Given the description of an element on the screen output the (x, y) to click on. 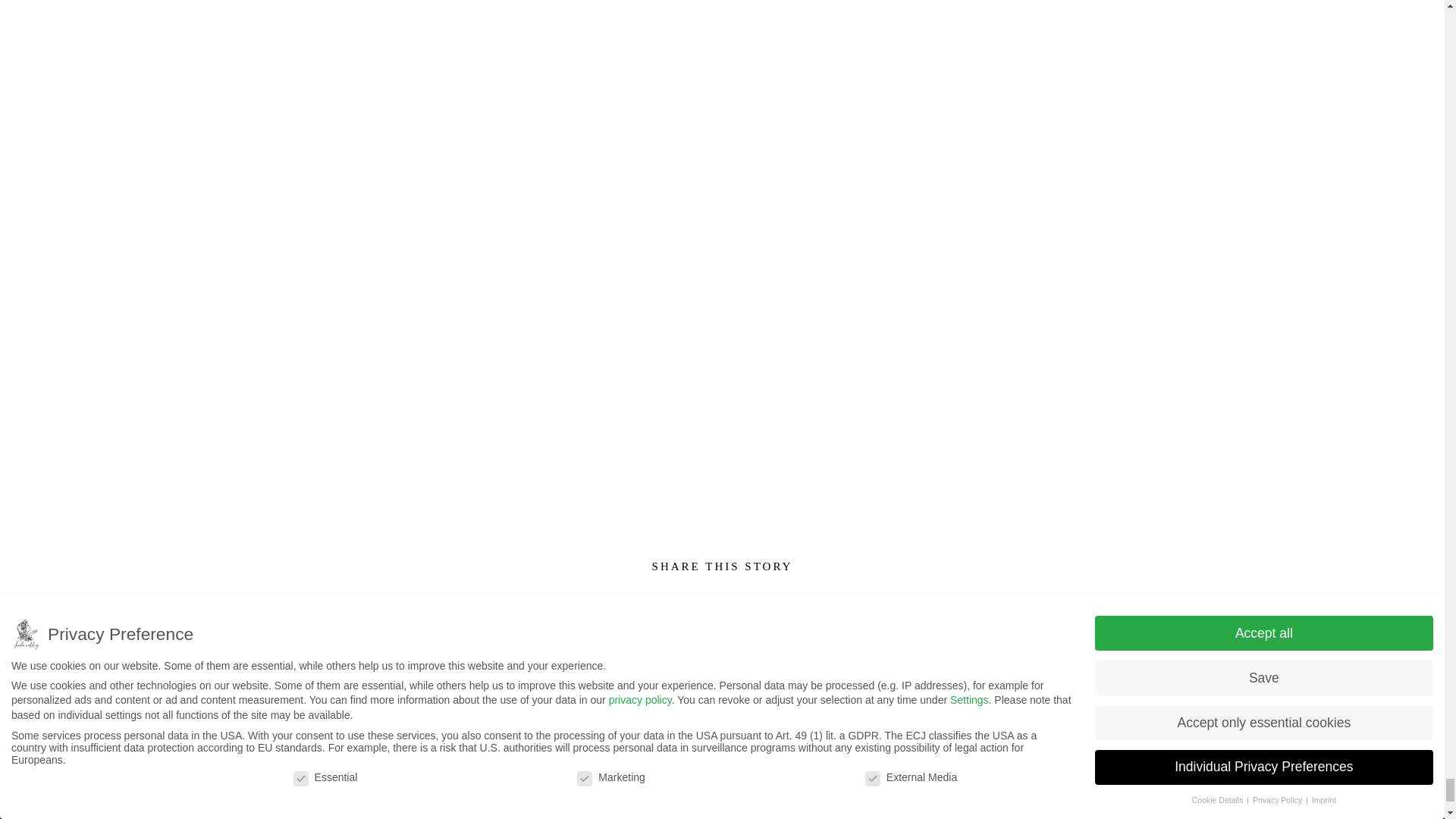
HOME (313, 800)
